Given the description of an element on the screen output the (x, y) to click on. 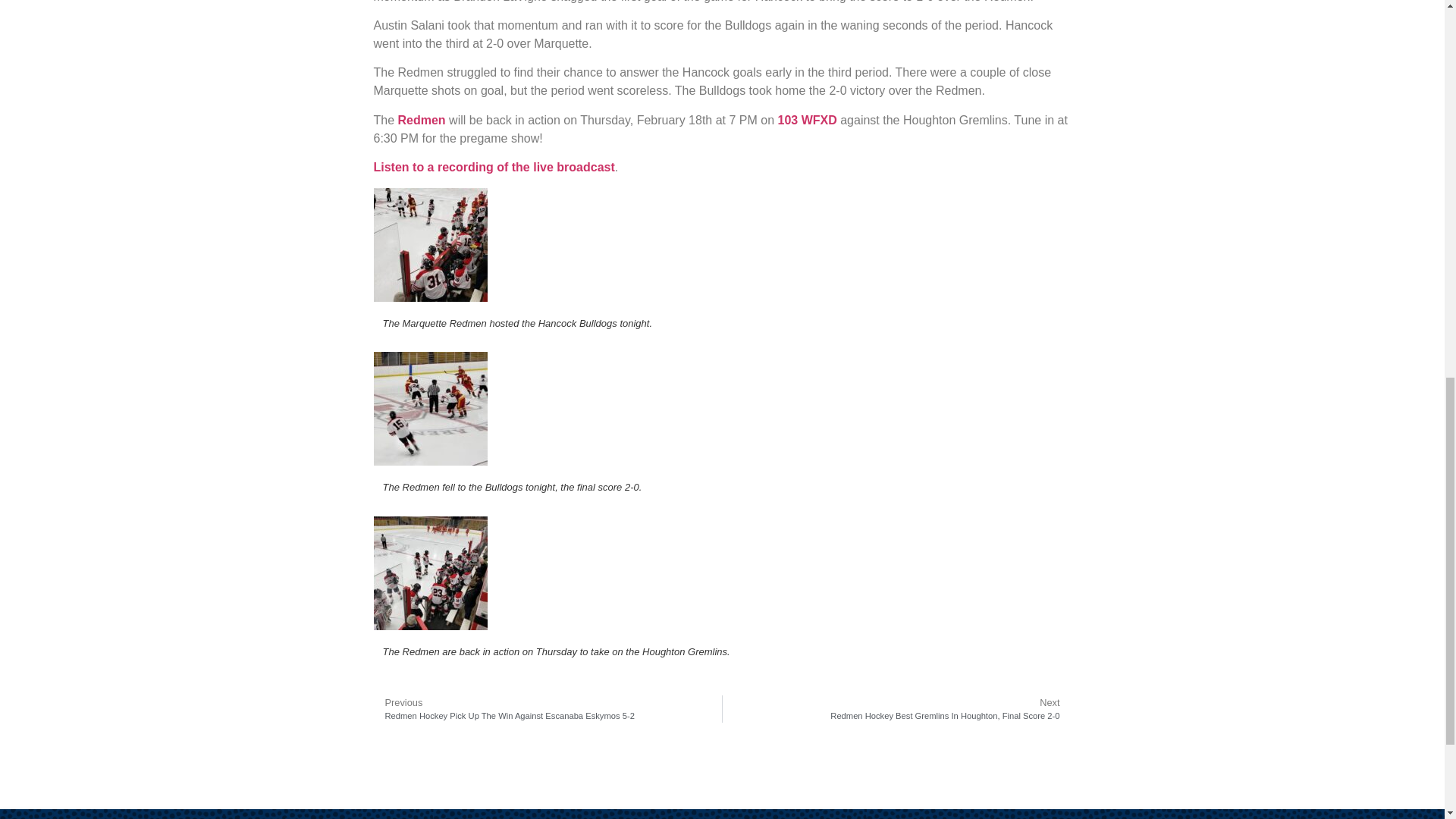
Listen to a recording of the live broadcast (493, 166)
Redmen (421, 119)
103 WFXD (807, 119)
